Given the description of an element on the screen output the (x, y) to click on. 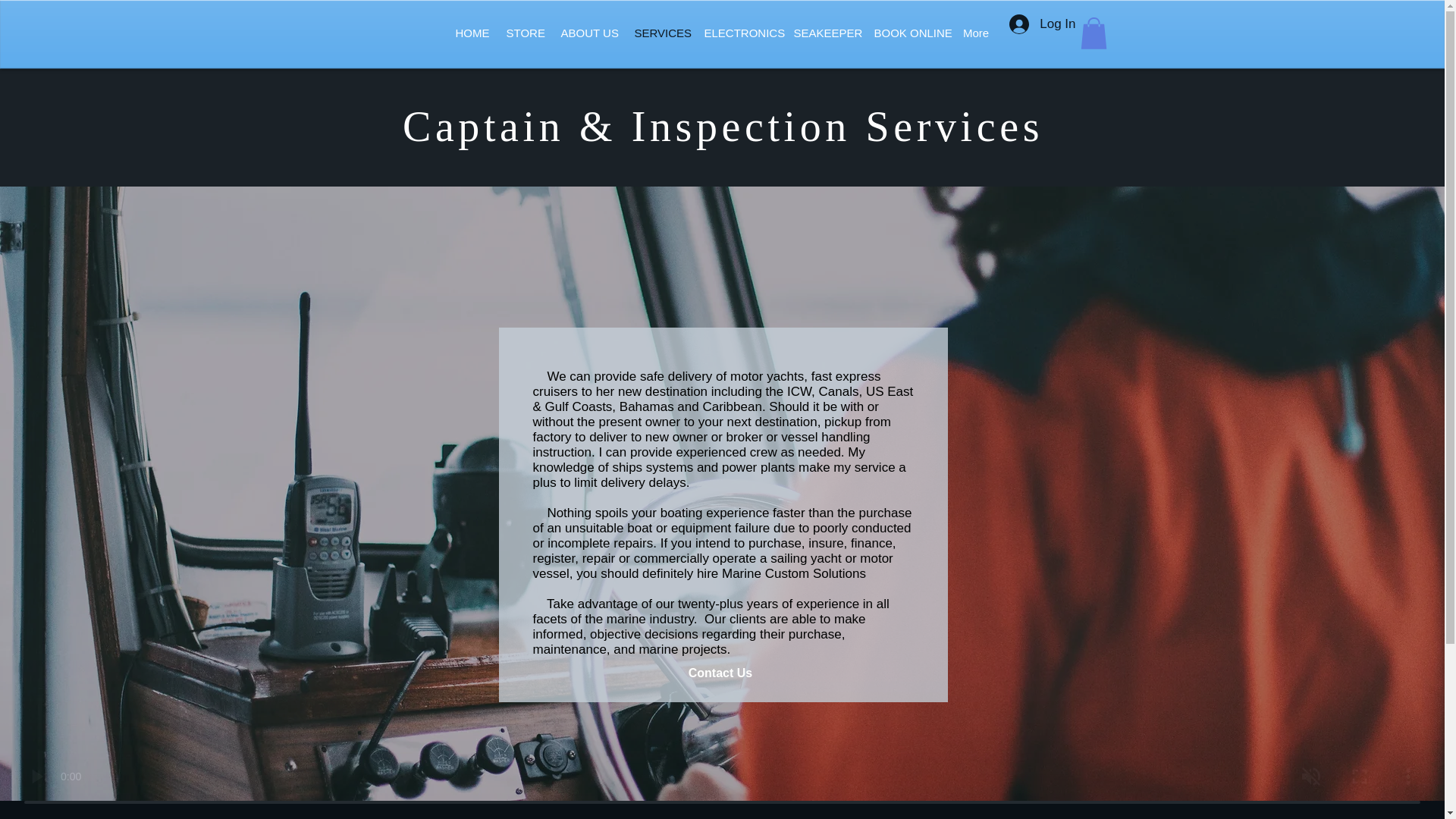
ELECTRONICS (739, 32)
BOOK ONLINE (908, 32)
STORE (523, 32)
SEAKEEPER (824, 32)
SERVICES (659, 32)
Contact Us (719, 673)
Log In (1042, 23)
ABOUT US (587, 32)
HOME (470, 32)
